Given the description of an element on the screen output the (x, y) to click on. 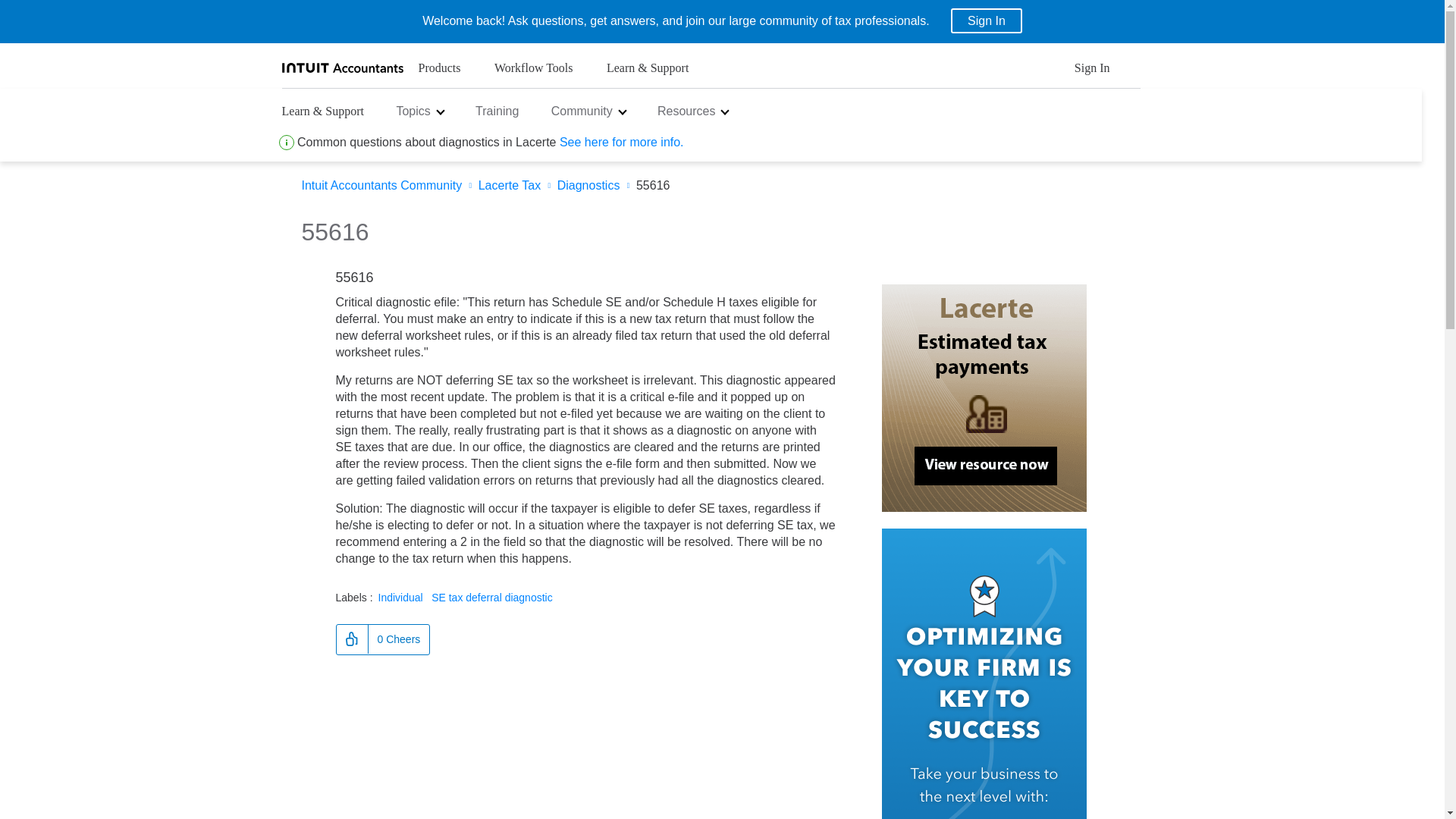
Click here to give cheers to this post. (352, 639)
Sign In (986, 20)
Created with Sketch. (286, 142)
The total number of cheers this post has received. (397, 638)
Sign In (1091, 72)
